Given the description of an element on the screen output the (x, y) to click on. 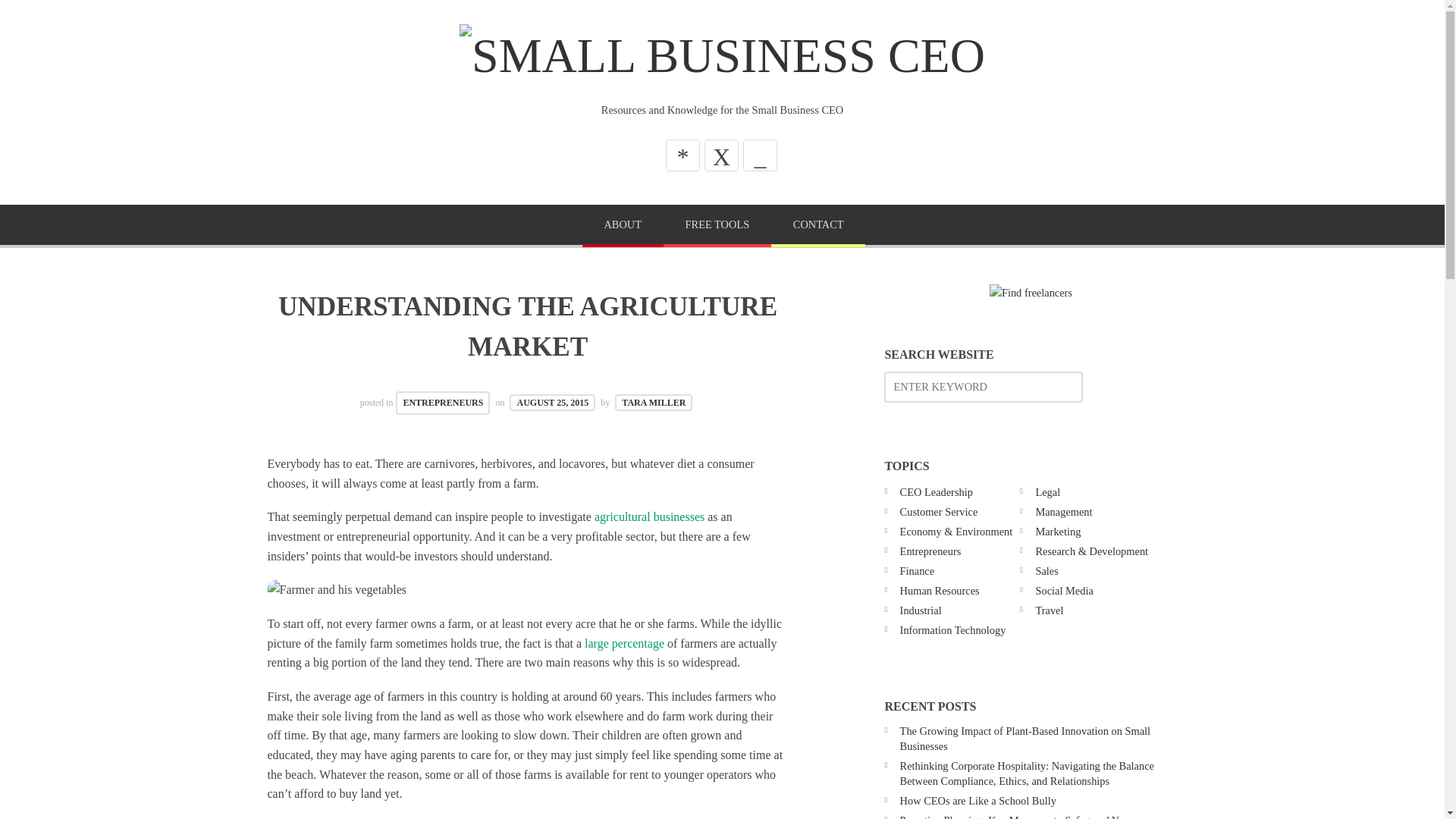
Information Technology (952, 630)
FREE TOOLS (717, 225)
Search (45, 16)
large percentage (624, 643)
AUGUST 25, 2015 (552, 402)
Customer Service (938, 511)
Marketing (1057, 531)
ENTREPRENEURS (442, 402)
Management (1063, 511)
Entrepreneurs (929, 551)
